Given the description of an element on the screen output the (x, y) to click on. 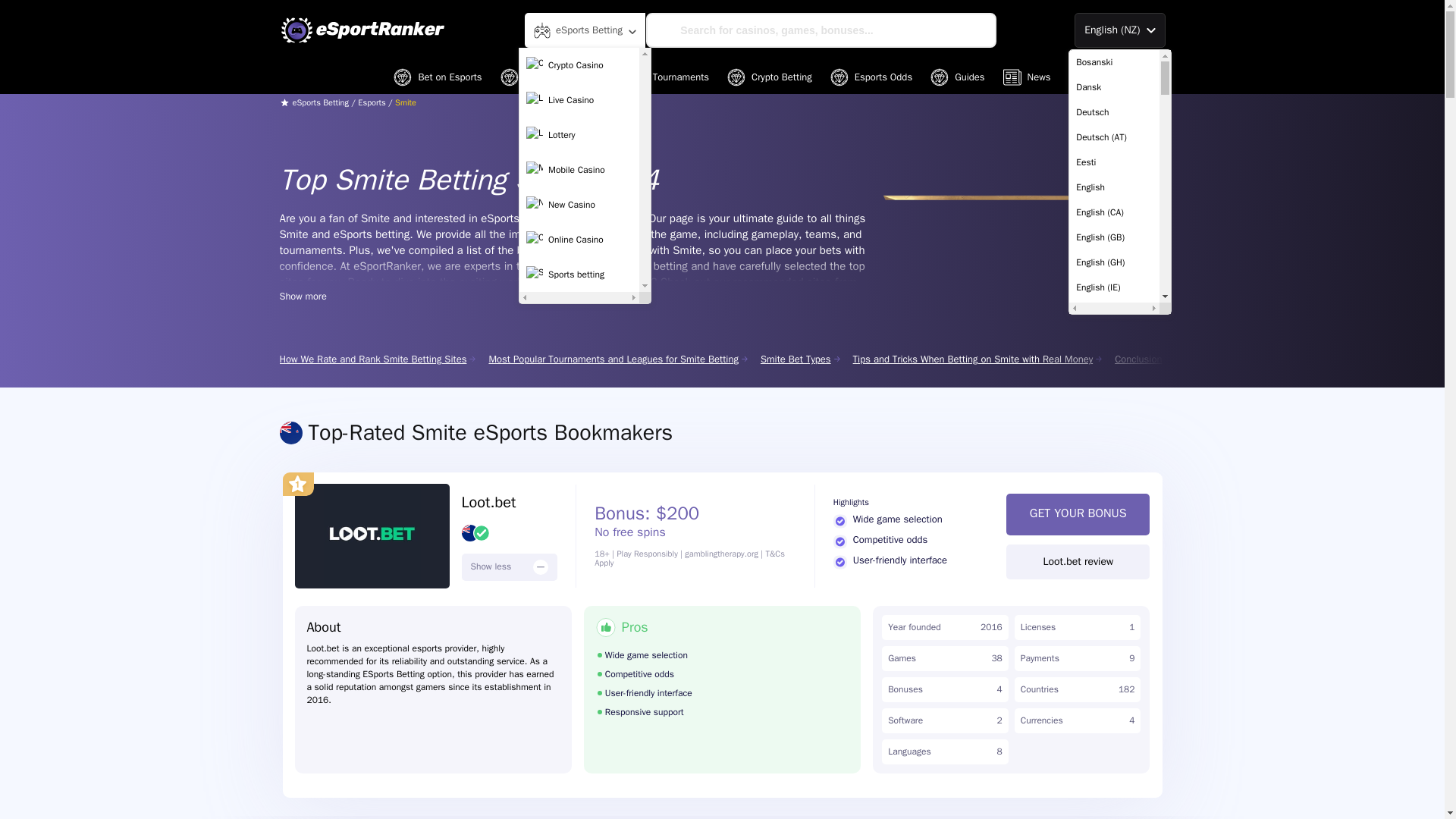
New Casino (579, 204)
Deutsch (1113, 112)
Hrvatski (1113, 809)
Eesti (1113, 162)
Online Casino (579, 239)
Live Casino (579, 99)
Dansk (1113, 87)
Mobile Casino (579, 169)
Lottery (579, 134)
Crypto Casino (579, 64)
